Given the description of an element on the screen output the (x, y) to click on. 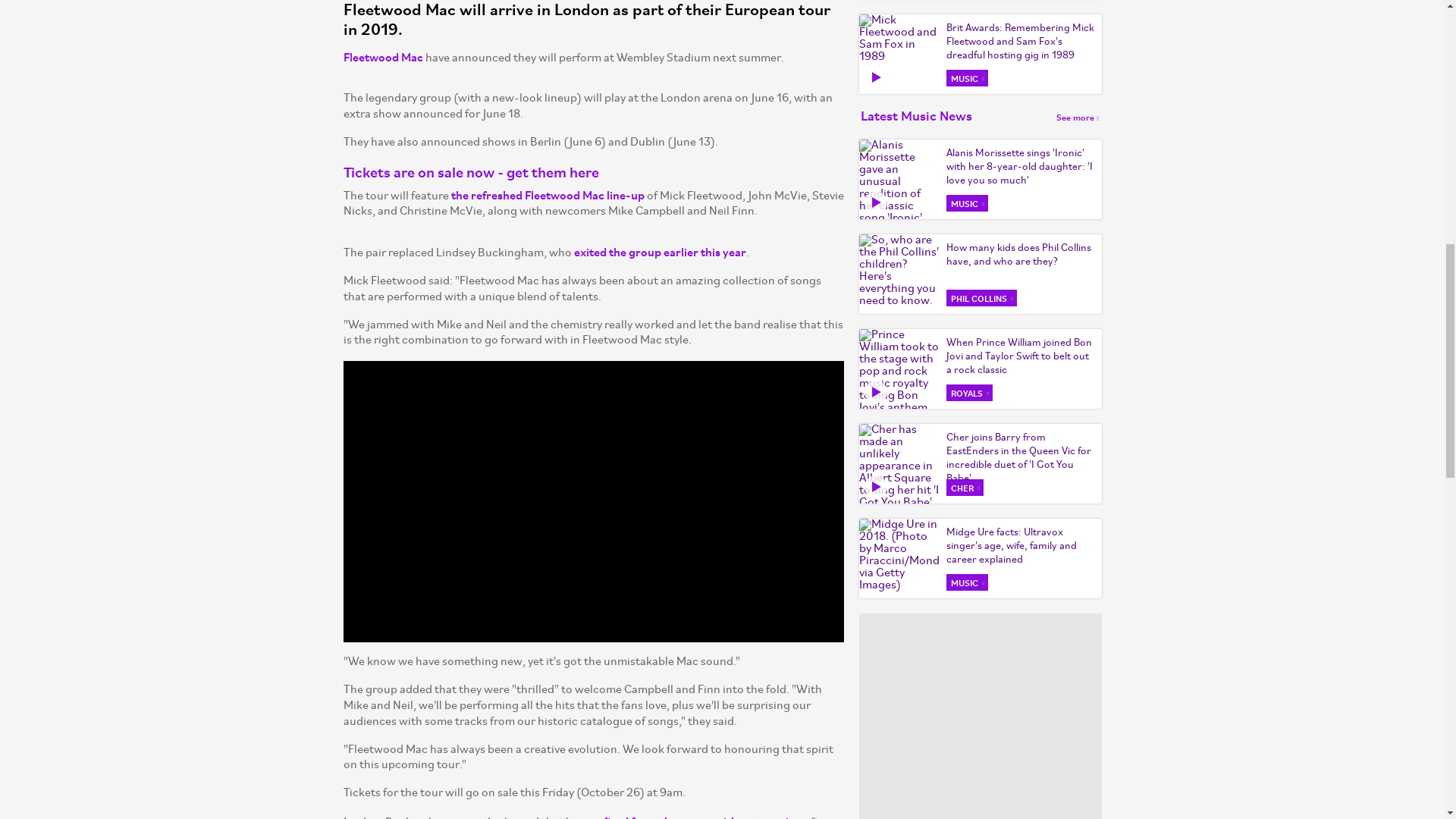
fired from the group without warning (703, 815)
exited the group earlier this year (659, 251)
Fleetwood Mac (382, 56)
Tickets are on sale now - get them here (470, 170)
the refreshed Fleetwood Mac line-up (546, 194)
